Given the description of an element on the screen output the (x, y) to click on. 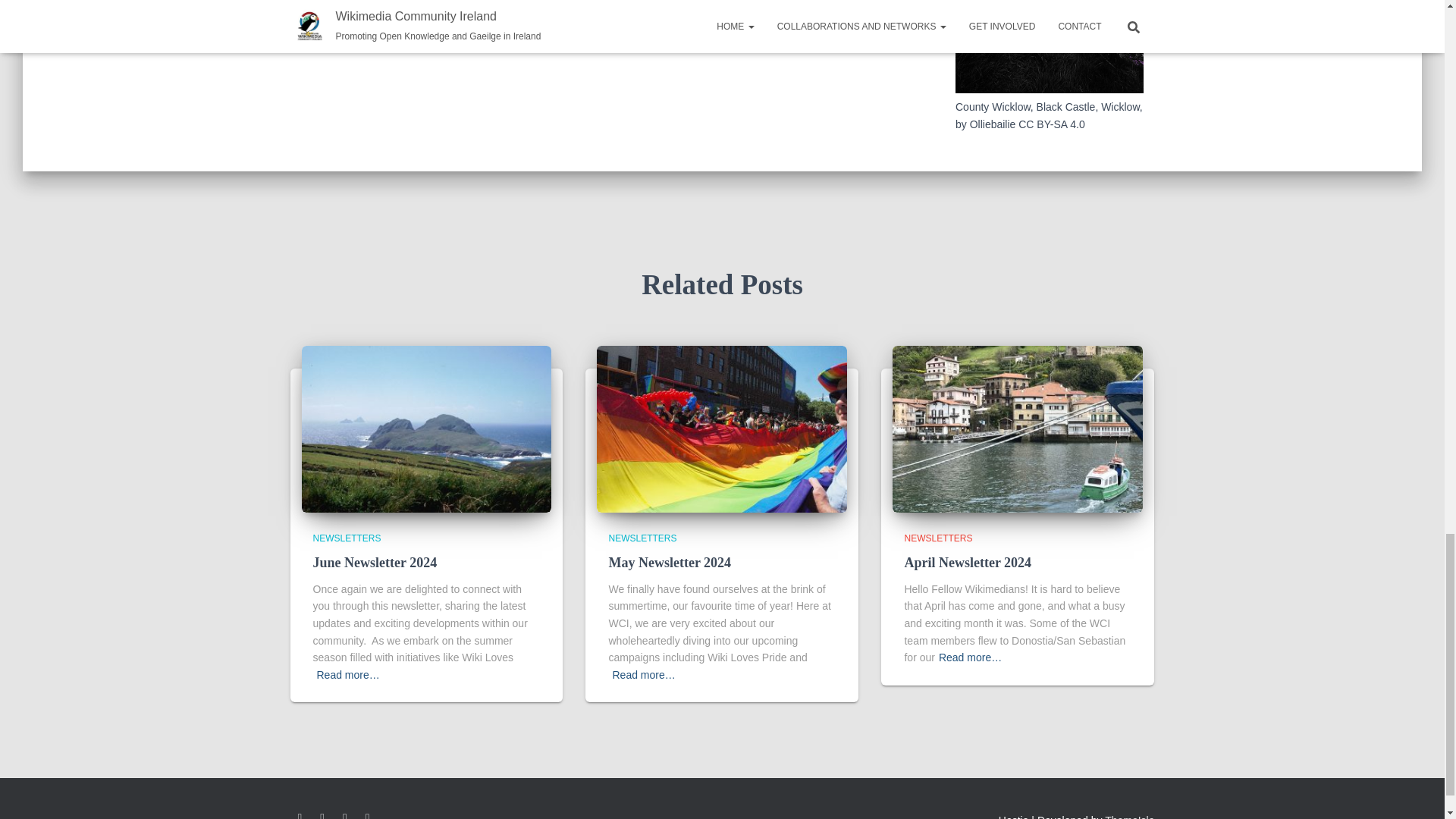
June Newsletter 2024 (374, 562)
May Newsletter 2024 (721, 428)
NEWSLETTERS (346, 538)
View all posts in Newsletters (938, 538)
April Newsletter 2024 (967, 562)
April Newsletter 2024 (1017, 428)
May Newsletter 2024 (669, 562)
May Newsletter 2024 (669, 562)
June Newsletter 2024 (426, 428)
NEWSLETTERS (642, 538)
June Newsletter 2024 (374, 562)
View all posts in Newsletters (642, 538)
View all posts in Newsletters (346, 538)
